Given the description of an element on the screen output the (x, y) to click on. 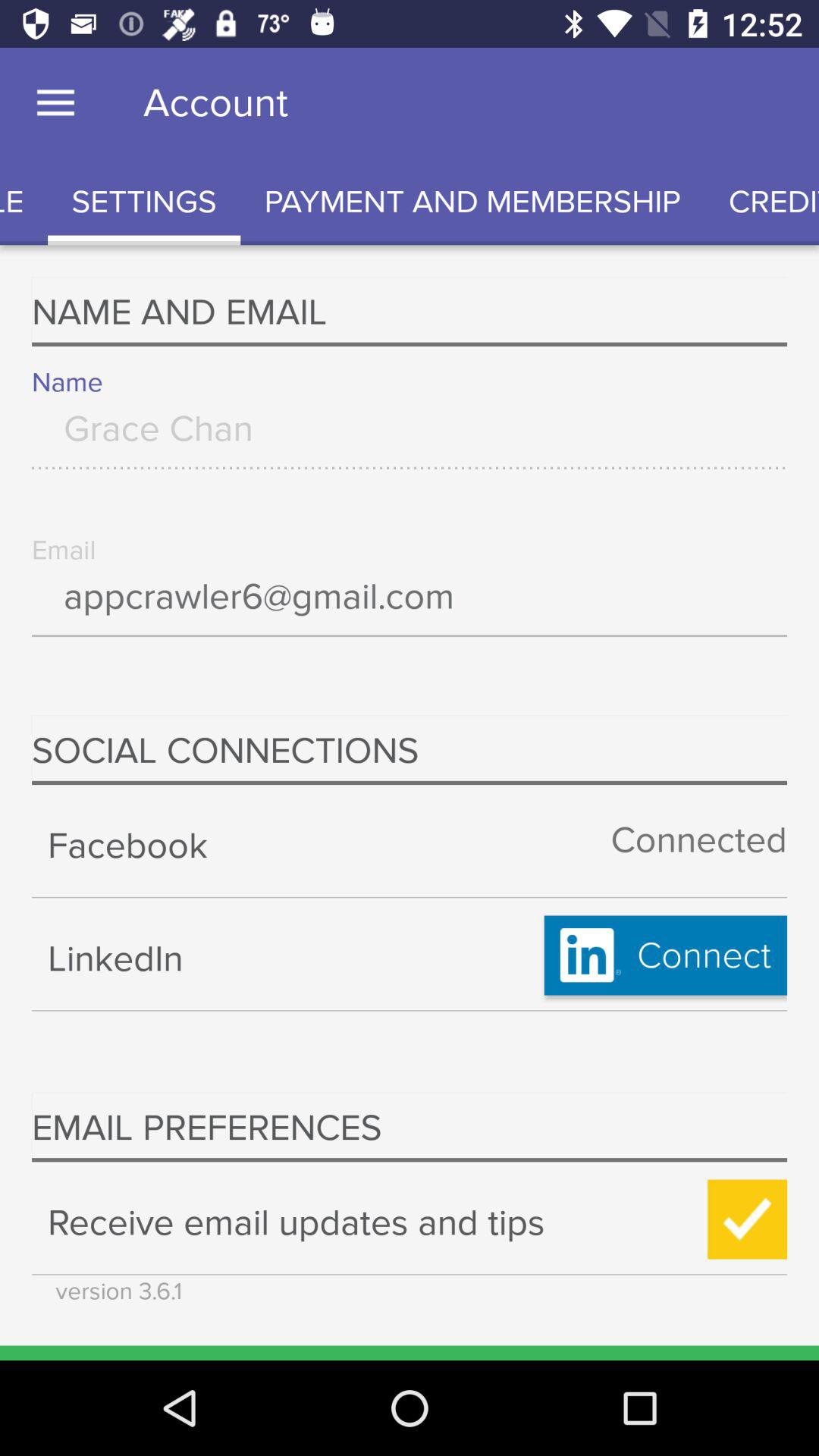
submit form (747, 1219)
